Given the description of an element on the screen output the (x, y) to click on. 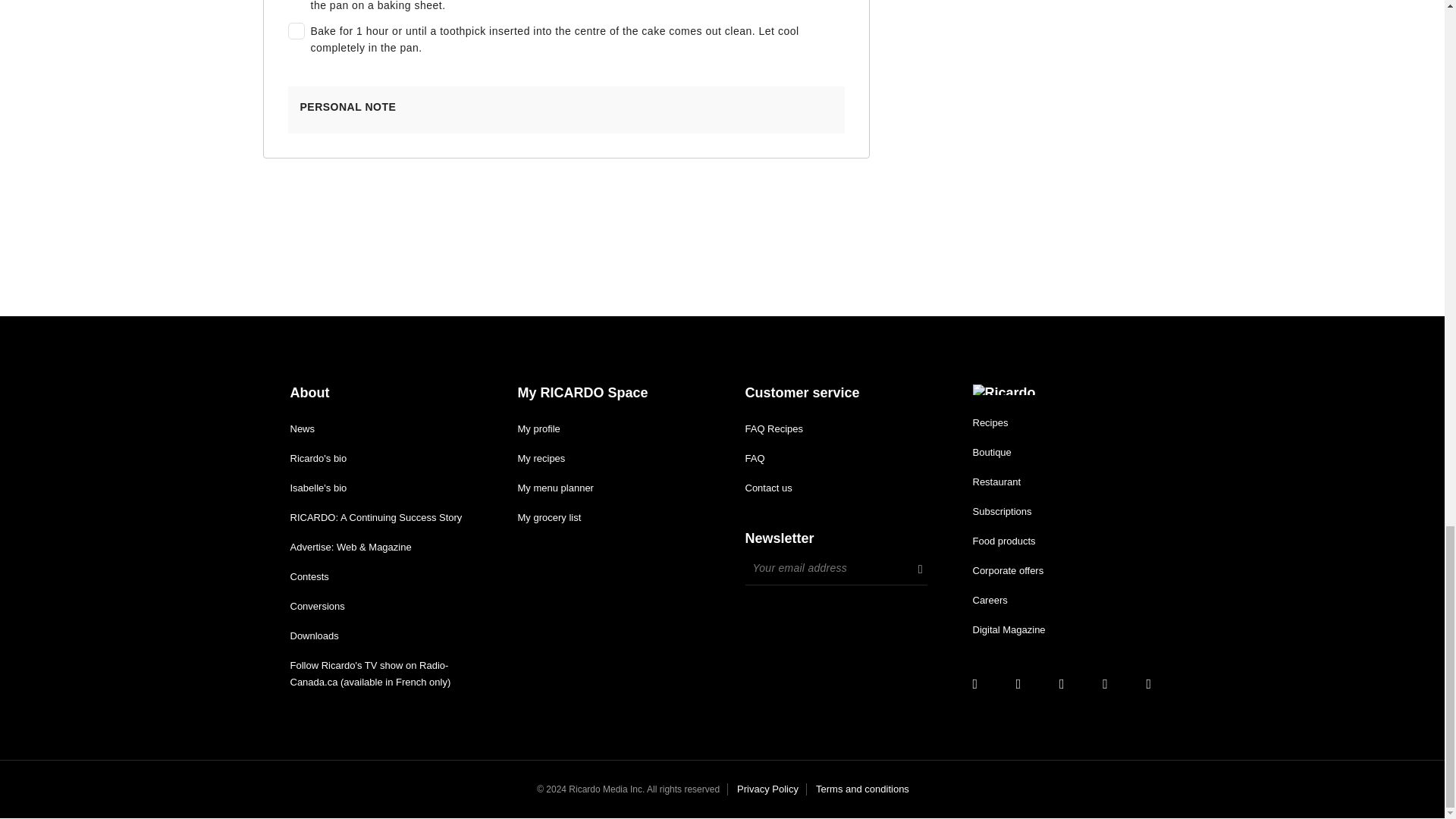
618444 (293, 27)
Subscriptions (1001, 511)
Aide (754, 458)
Recipes (989, 422)
Offres corporatives (1007, 570)
My recipes (540, 458)
My profile (537, 428)
Contact us (768, 487)
My menu planner (554, 487)
store (991, 451)
